Given the description of an element on the screen output the (x, y) to click on. 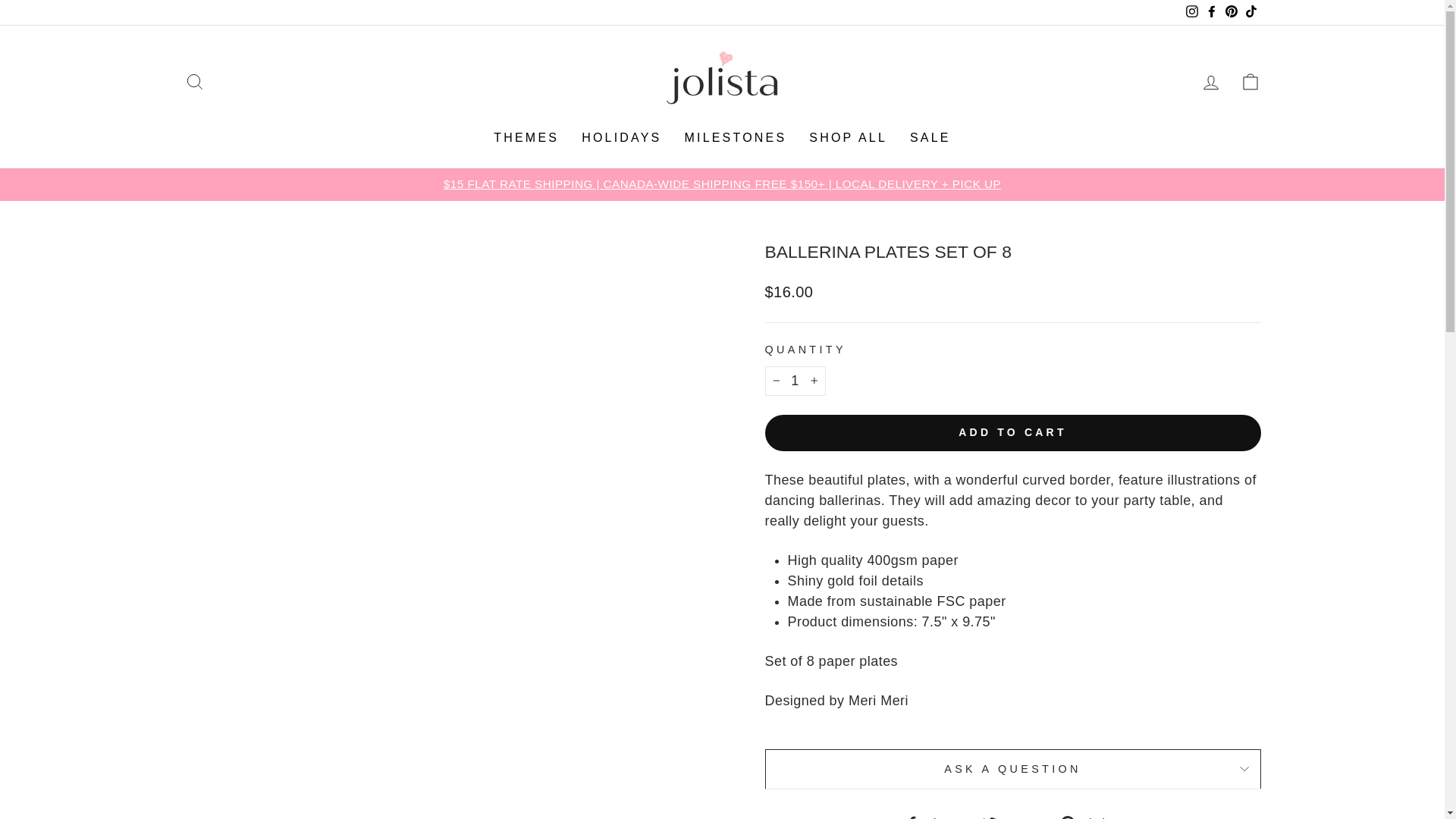
jolista on Facebook (1211, 12)
1 (794, 380)
jolista on Pinterest (1230, 12)
Pin on Pinterest (1090, 815)
jolista on TikTok (1250, 12)
jolista on Instagram (1190, 12)
Share on Facebook (937, 815)
Tweet on Twitter (1014, 815)
